Given the description of an element on the screen output the (x, y) to click on. 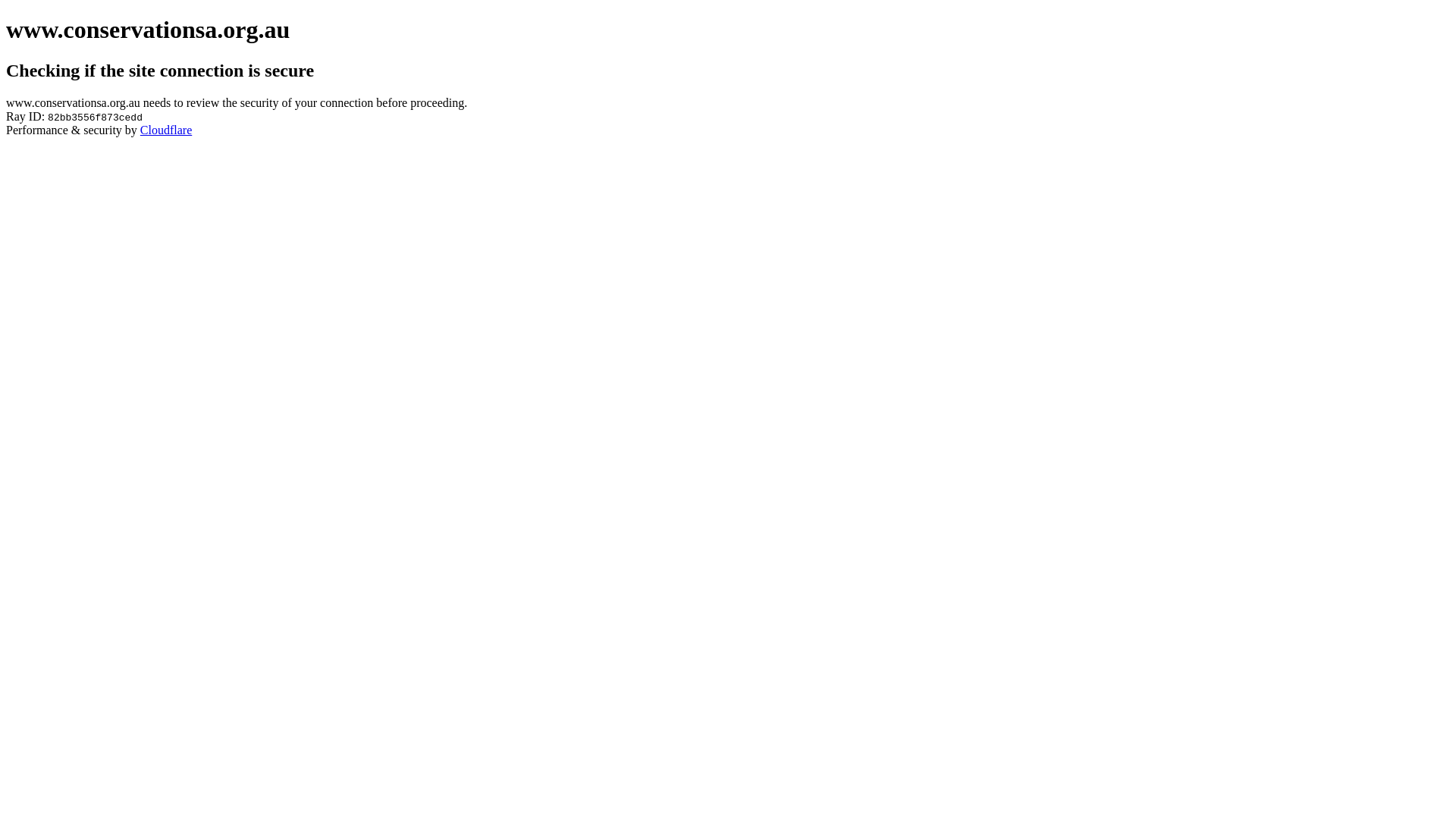
Cloudflare Element type: text (165, 129)
